Given the description of an element on the screen output the (x, y) to click on. 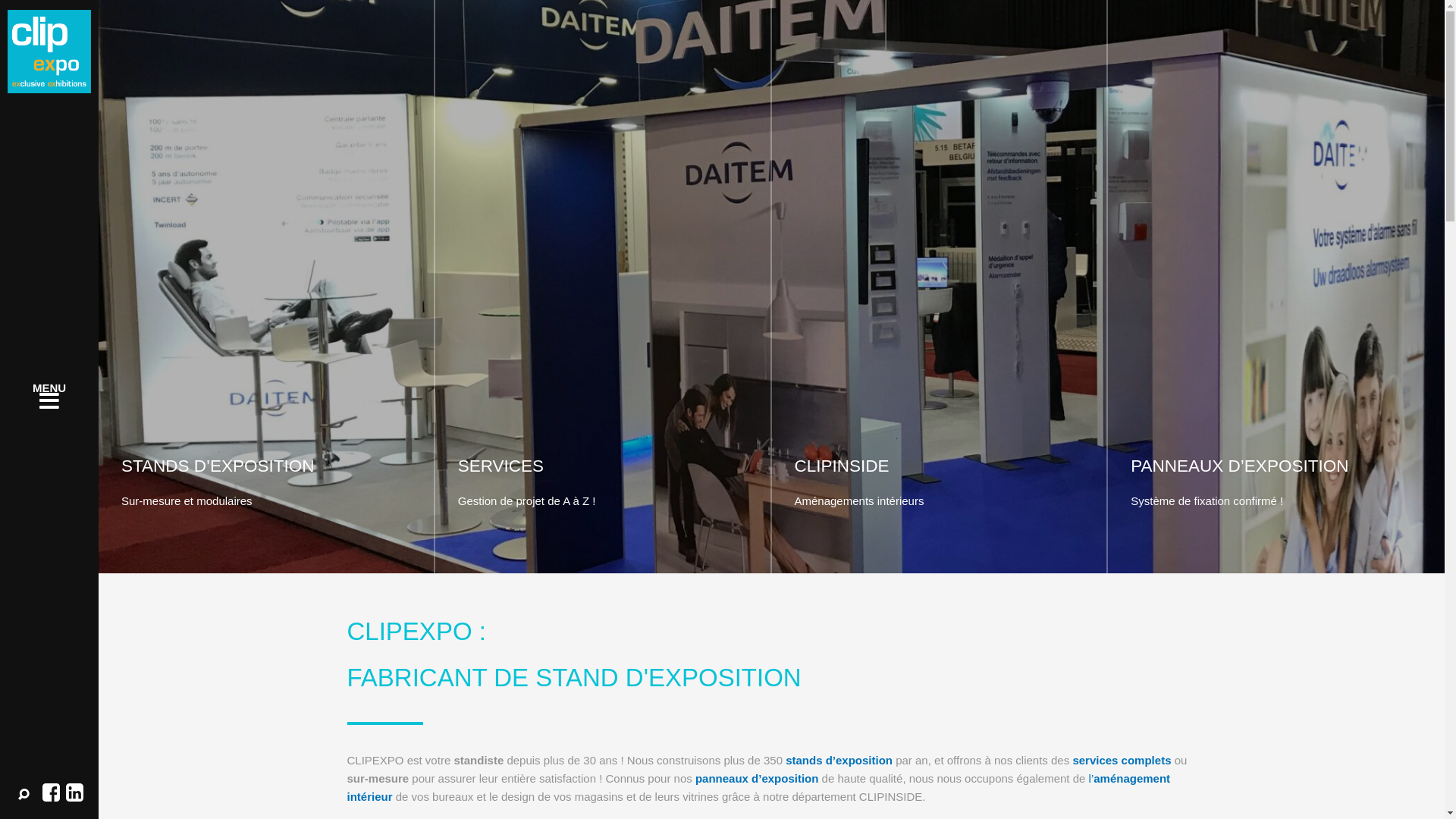
services complets Element type: text (1121, 759)
